Given the description of an element on the screen output the (x, y) to click on. 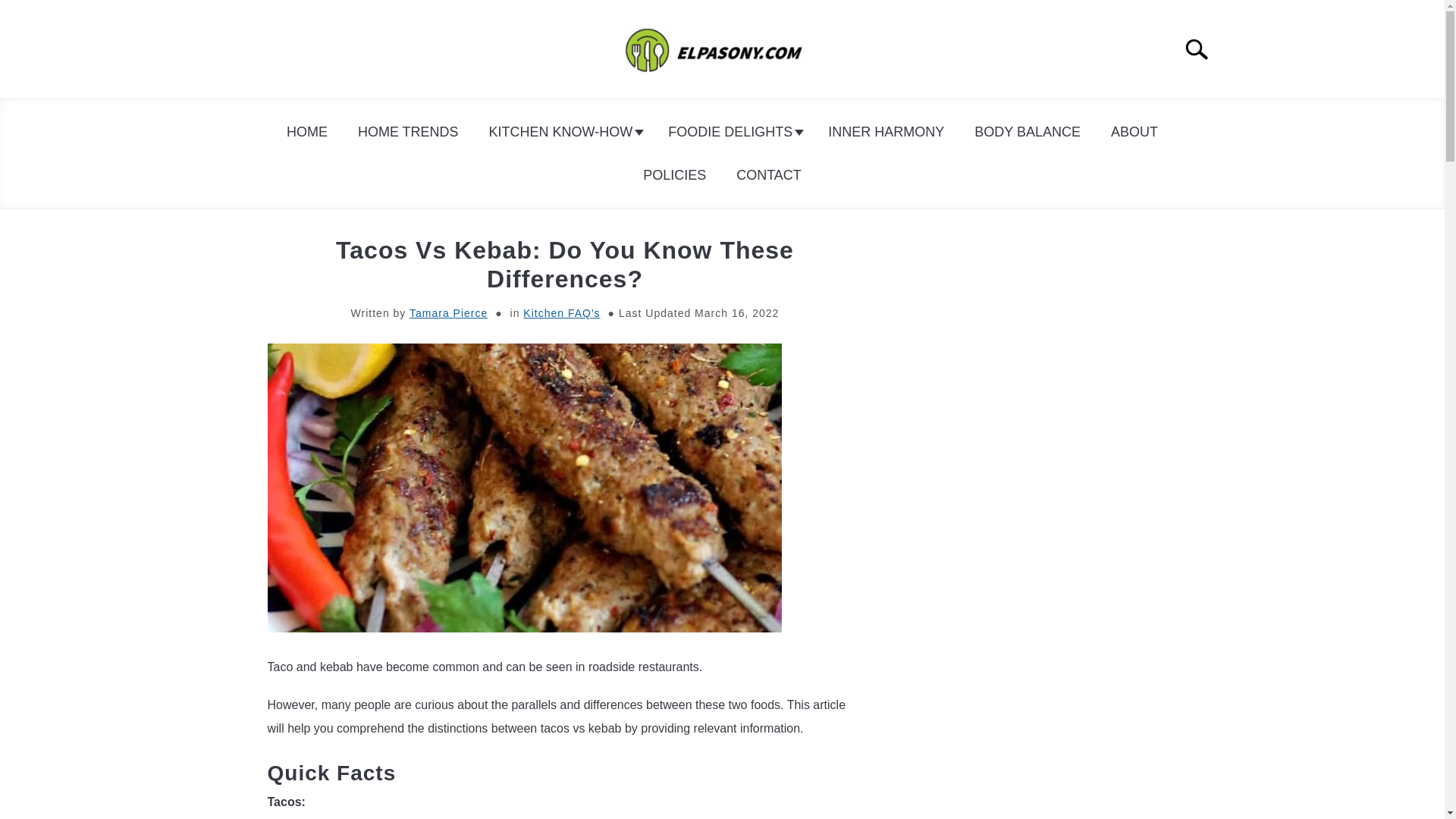
KITCHEN KNOW-HOW (563, 131)
Kitchen FAQ's (560, 313)
Search (1203, 49)
FOODIE DELIGHTS (732, 131)
CONTACT (768, 175)
Tamara Pierce (448, 313)
ABOUT (1134, 131)
INNER HARMONY (885, 131)
HOME TRENDS (408, 131)
POLICIES (673, 175)
